Given the description of an element on the screen output the (x, y) to click on. 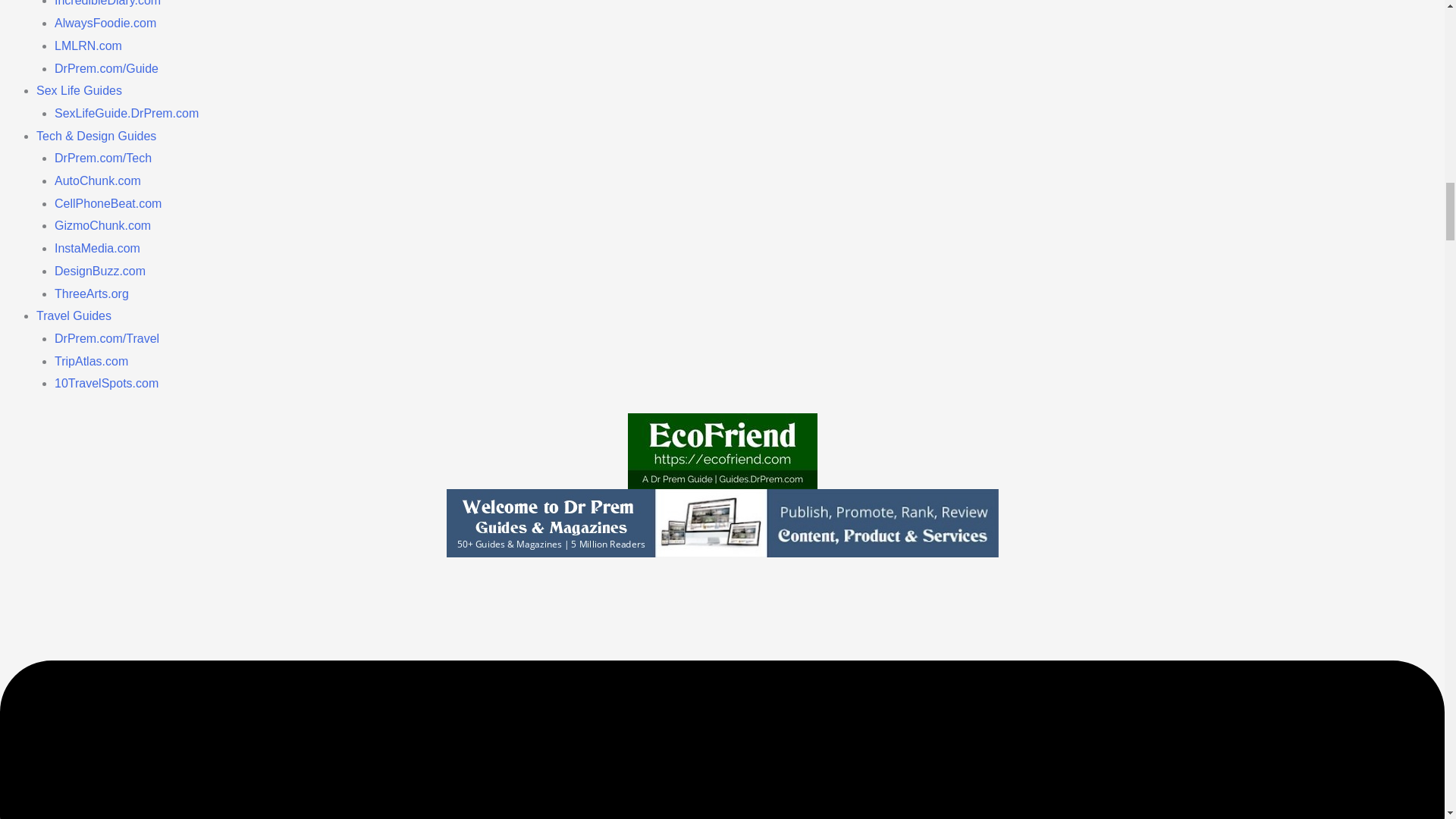
LMLRN.com (88, 45)
IncredibleDiary.com (107, 3)
AlwaysFoodie.com (105, 22)
